Given the description of an element on the screen output the (x, y) to click on. 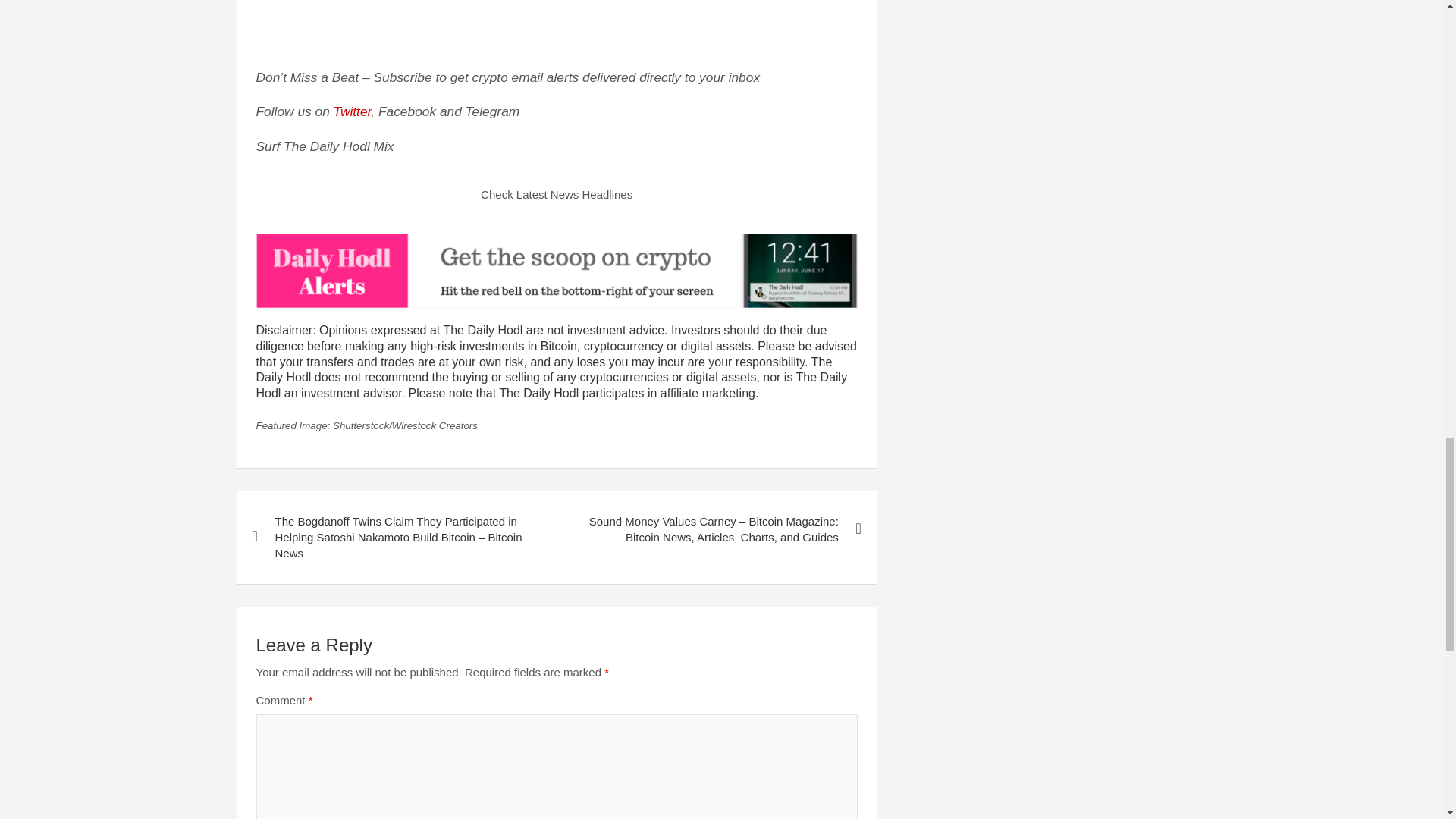
Twitter (352, 111)
